Given the description of an element on the screen output the (x, y) to click on. 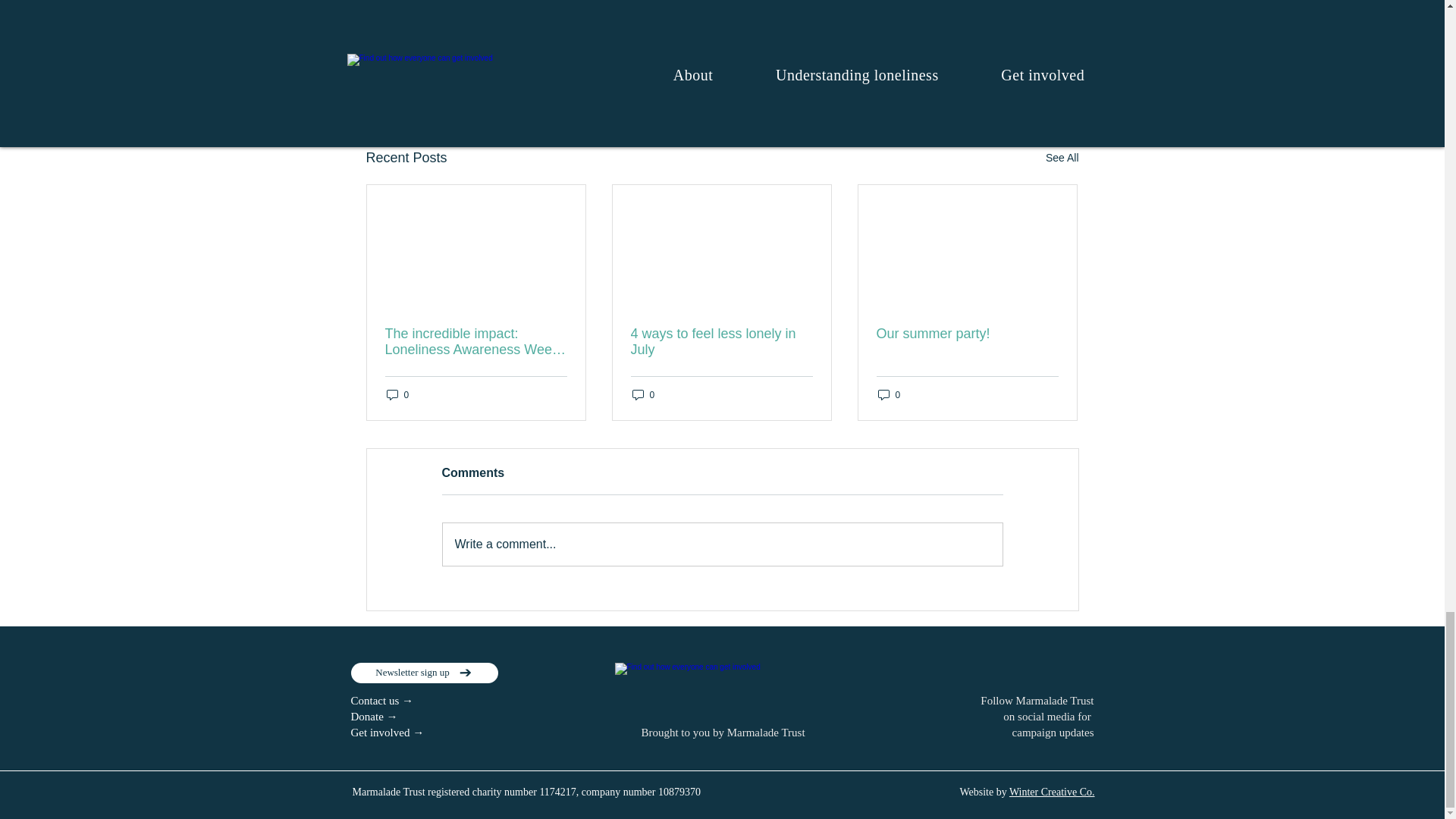
See All (1061, 157)
0 (397, 394)
4 ways to feel less lonely in July (721, 341)
Our summer party! (967, 333)
The incredible impact: Loneliness Awareness Week 2024 (476, 341)
0 (643, 394)
